Given the description of an element on the screen output the (x, y) to click on. 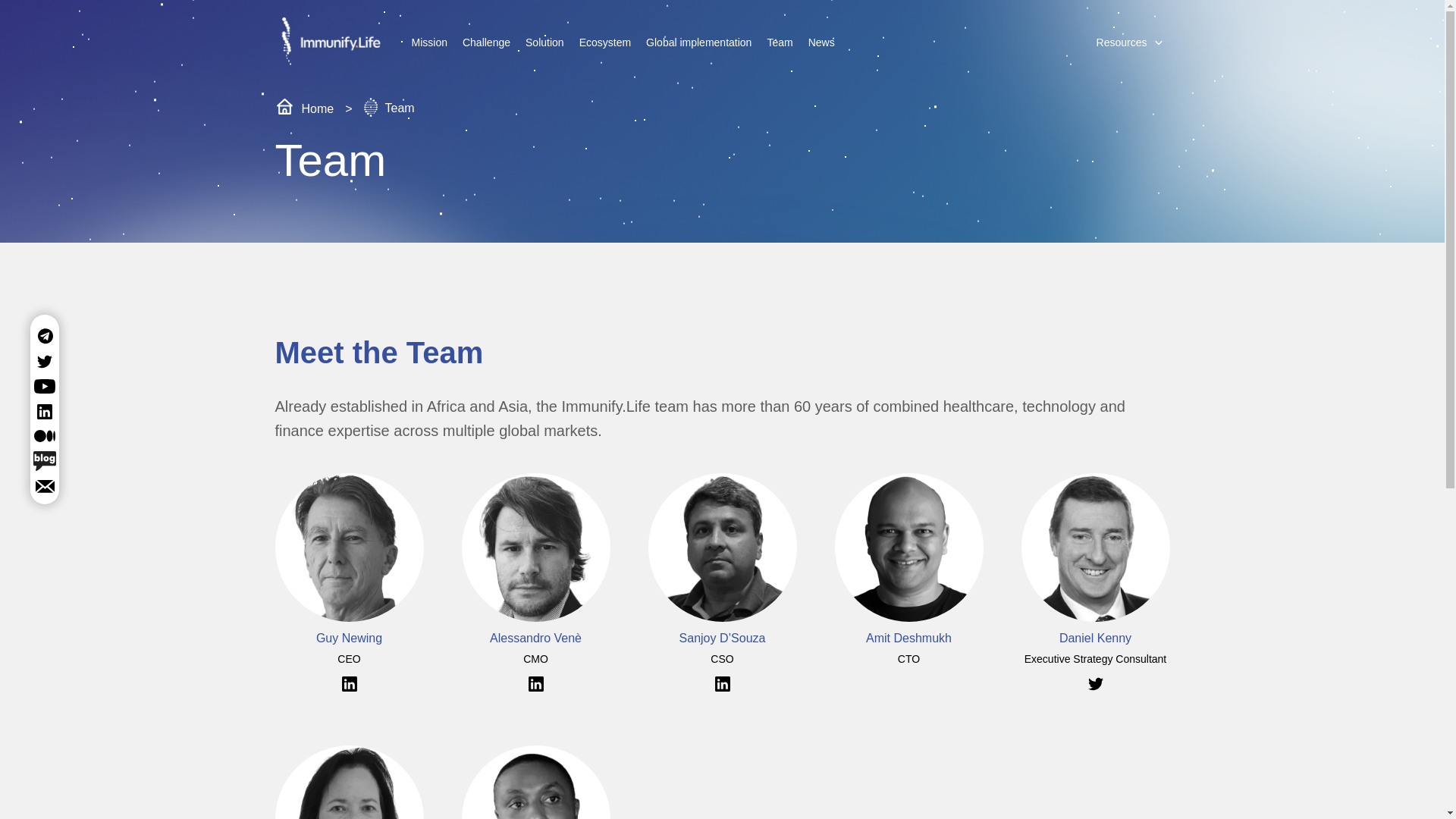
Challenge (486, 40)
Resources (1121, 40)
Team (778, 40)
Home (304, 107)
News (821, 40)
Global implementation (698, 40)
Solution (545, 40)
Ecosystem (605, 40)
Mission (428, 40)
